Given the description of an element on the screen output the (x, y) to click on. 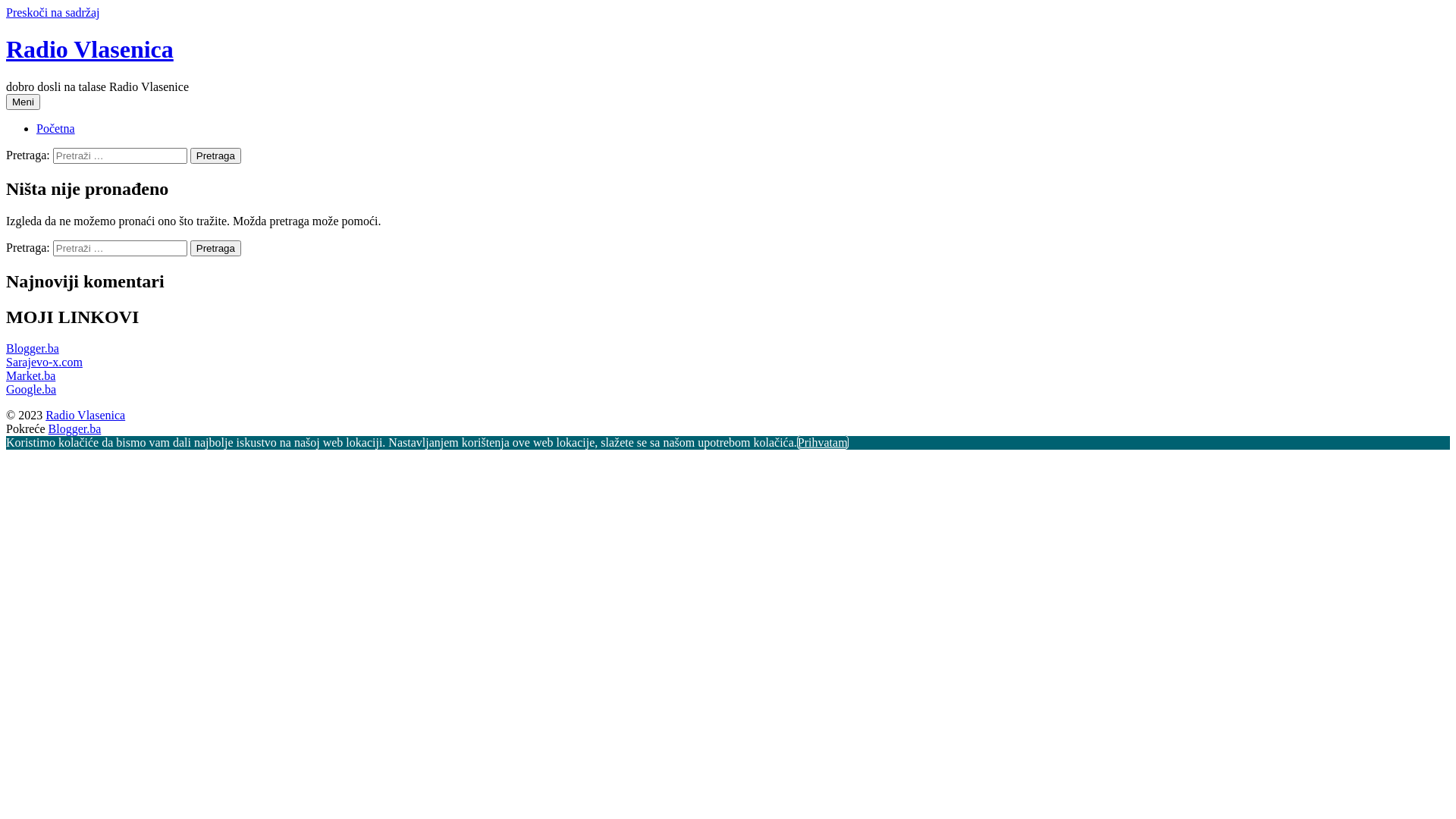
Radio Vlasenica Element type: text (85, 414)
Prihvatam Element type: text (822, 442)
Google.ba Element type: text (31, 388)
Blogger.ba Element type: text (32, 348)
Blogger.ba Element type: text (74, 428)
Pretraga Element type: text (215, 248)
Meni Element type: text (23, 101)
Sarajevo-x.com Element type: text (44, 361)
Market.ba Element type: text (30, 375)
Radio Vlasenica Element type: text (89, 48)
Pretraga Element type: text (215, 155)
